Given the description of an element on the screen output the (x, y) to click on. 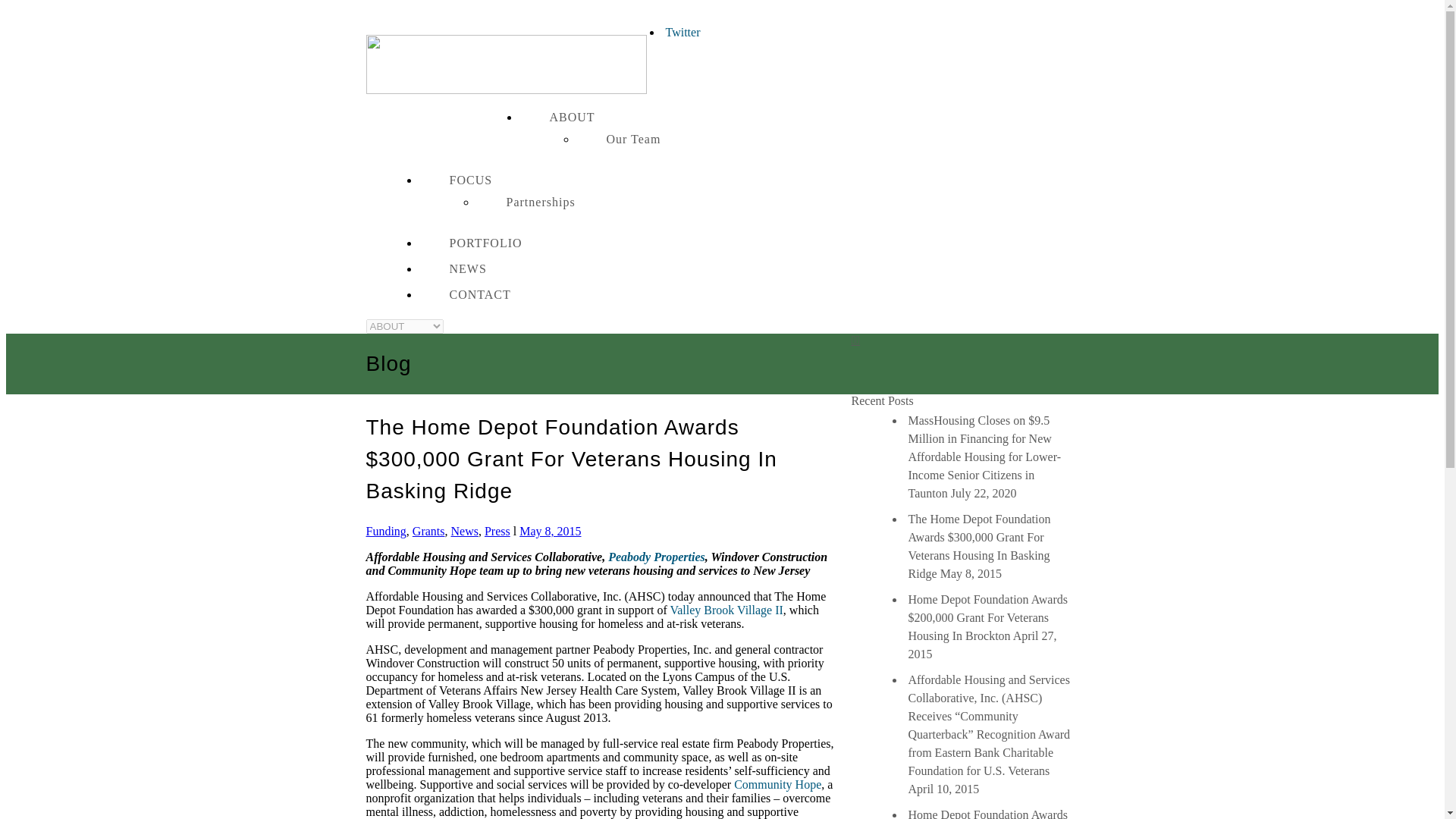
Grants (428, 530)
Community Hope (777, 784)
Valley Brook Village II (726, 609)
News (463, 530)
PORTFOLIO (486, 243)
May 8, 2015 (549, 530)
Our Team (632, 139)
Funding (385, 530)
Peabody Properties (656, 556)
NEWS (467, 268)
Press (497, 530)
CONTACT (480, 294)
Twitter (682, 31)
Partnerships (540, 202)
FOCUS (470, 180)
